Given the description of an element on the screen output the (x, y) to click on. 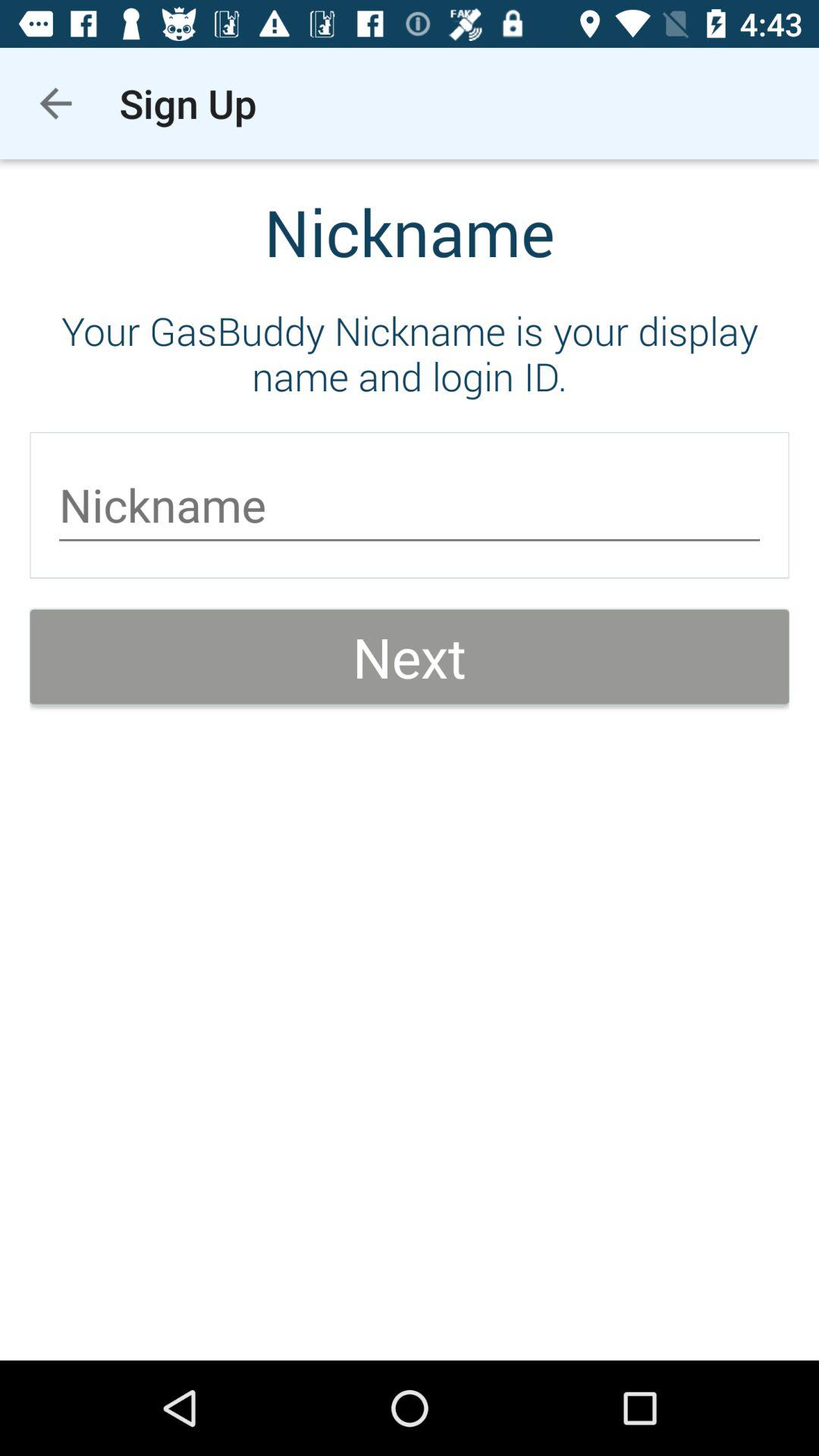
tap item below the your gasbuddy nickname item (409, 504)
